Given the description of an element on the screen output the (x, y) to click on. 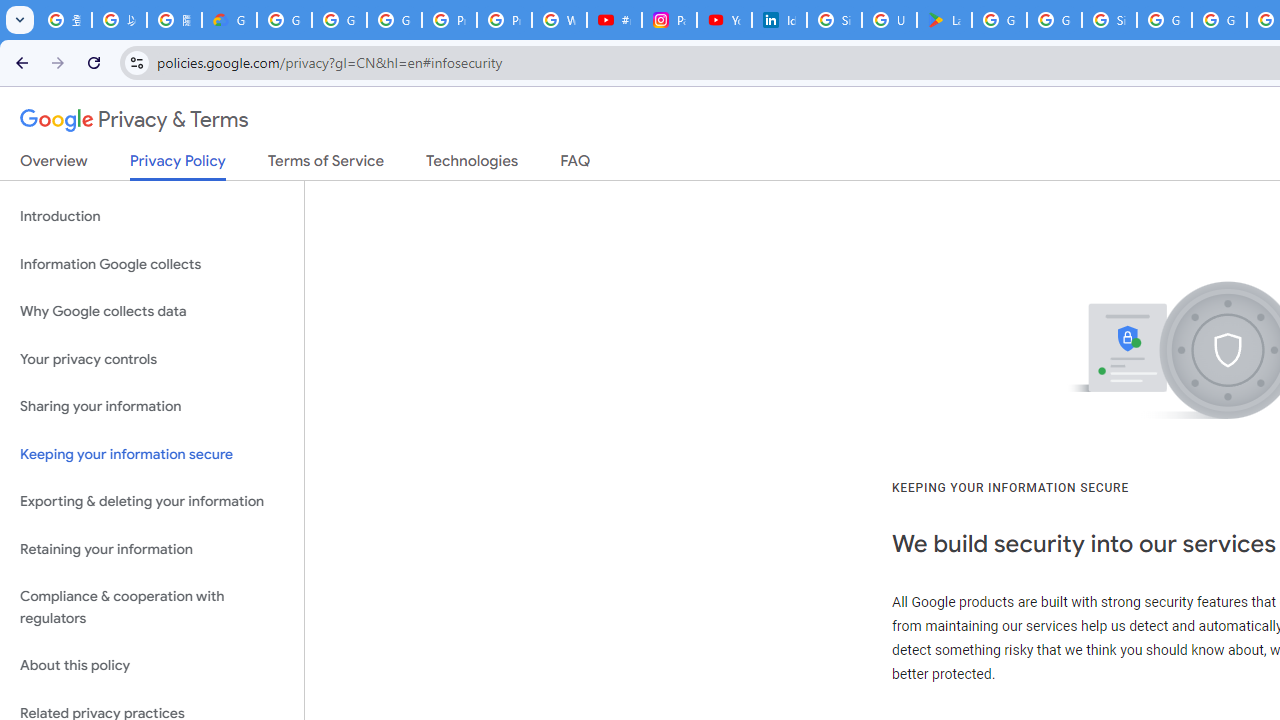
Sign in - Google Accounts (1108, 20)
Google Workspace - Specific Terms (1053, 20)
Retaining your information (152, 548)
Google Cloud Platform (1218, 20)
Compliance & cooperation with regulators (152, 607)
#nbabasketballhighlights - YouTube (614, 20)
